Given the description of an element on the screen output the (x, y) to click on. 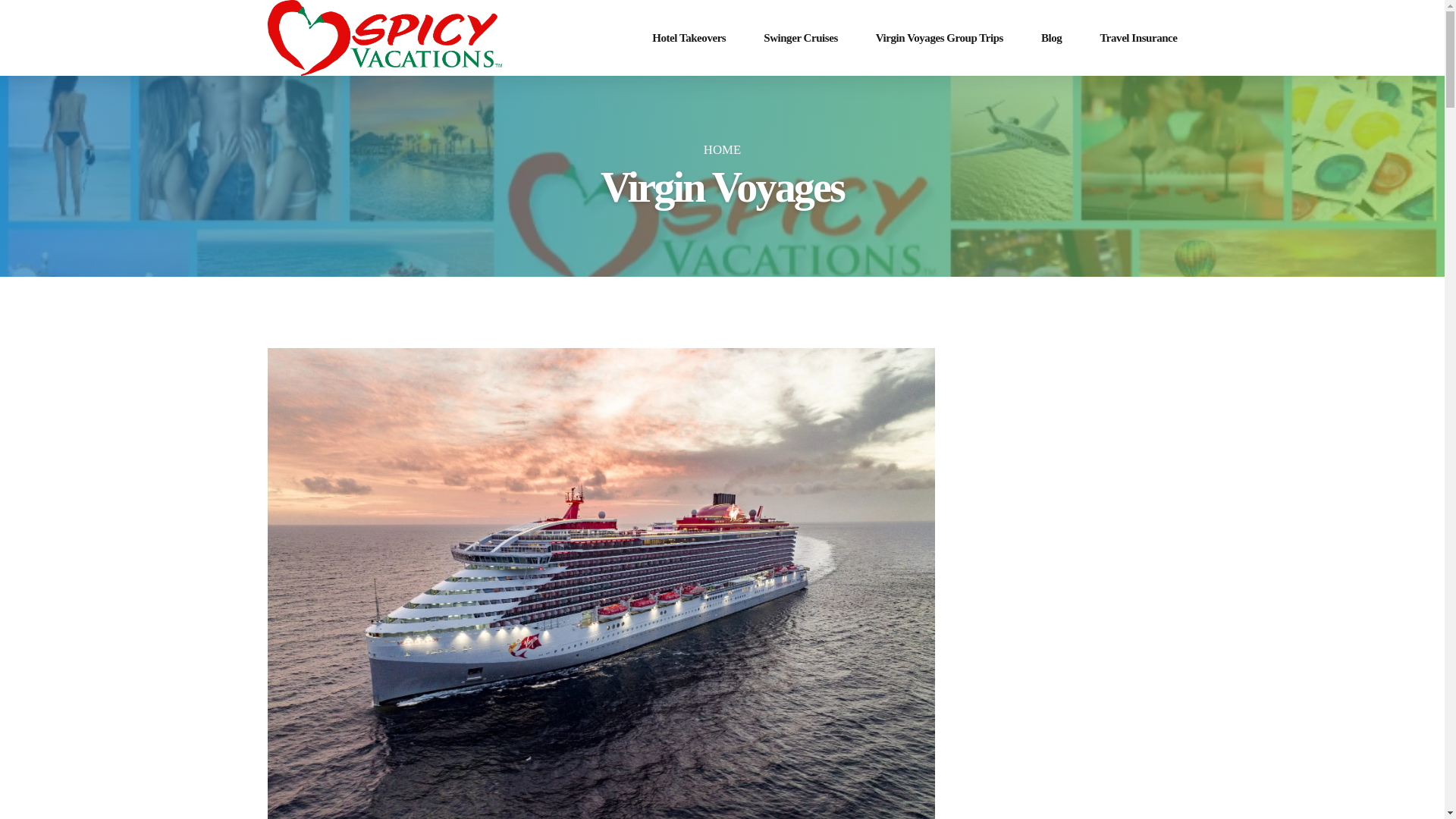
Swinger Cruises (800, 38)
Hotel Takeovers (688, 38)
HOME (722, 149)
Travel Insurance (1137, 38)
Virgin Voyages Group Trips (939, 38)
